Given the description of an element on the screen output the (x, y) to click on. 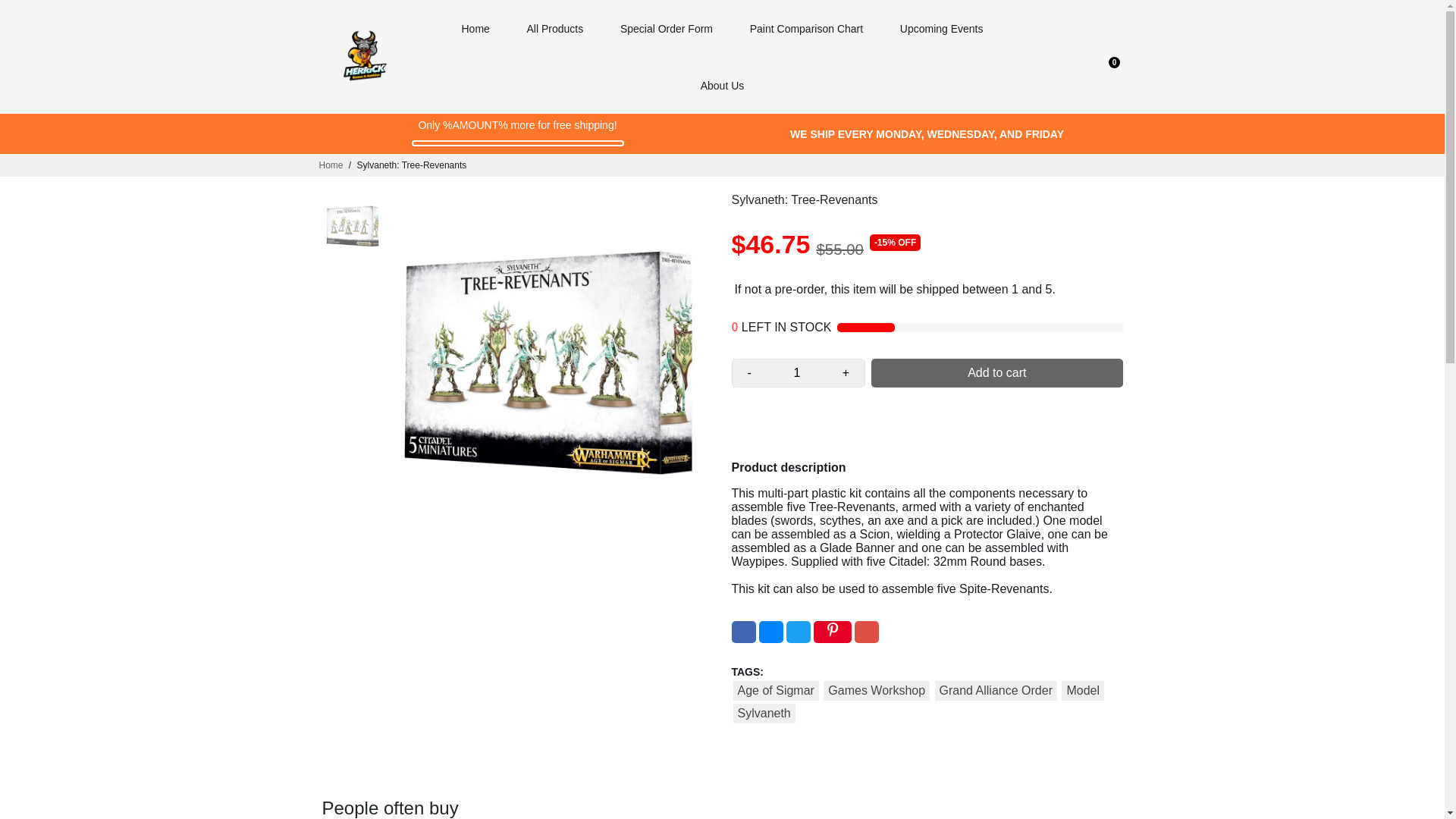
1 (797, 372)
All Products (555, 28)
Home (474, 28)
Home (330, 164)
